Given the description of an element on the screen output the (x, y) to click on. 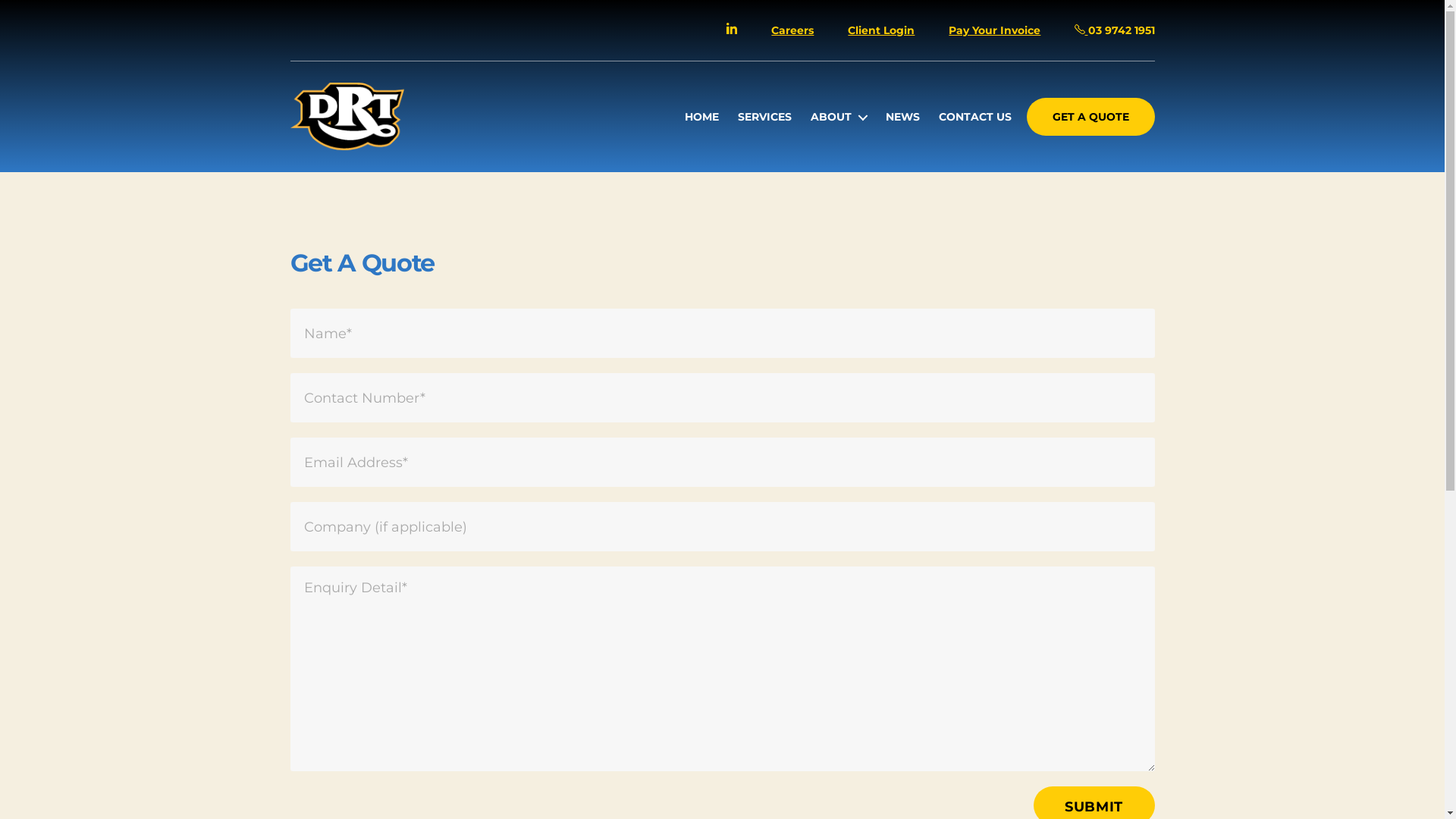
ABOUT Element type: text (838, 116)
GET A QUOTE Element type: text (1090, 116)
03 9742 1951 Element type: text (1114, 30)
HOME Element type: text (701, 116)
NEWS Element type: text (902, 116)
CONTACT US Element type: text (974, 116)
Careers Element type: text (792, 30)
Pay Your Invoice Element type: text (994, 30)
Client Login Element type: text (880, 30)
SERVICES Element type: text (764, 116)
